Given the description of an element on the screen output the (x, y) to click on. 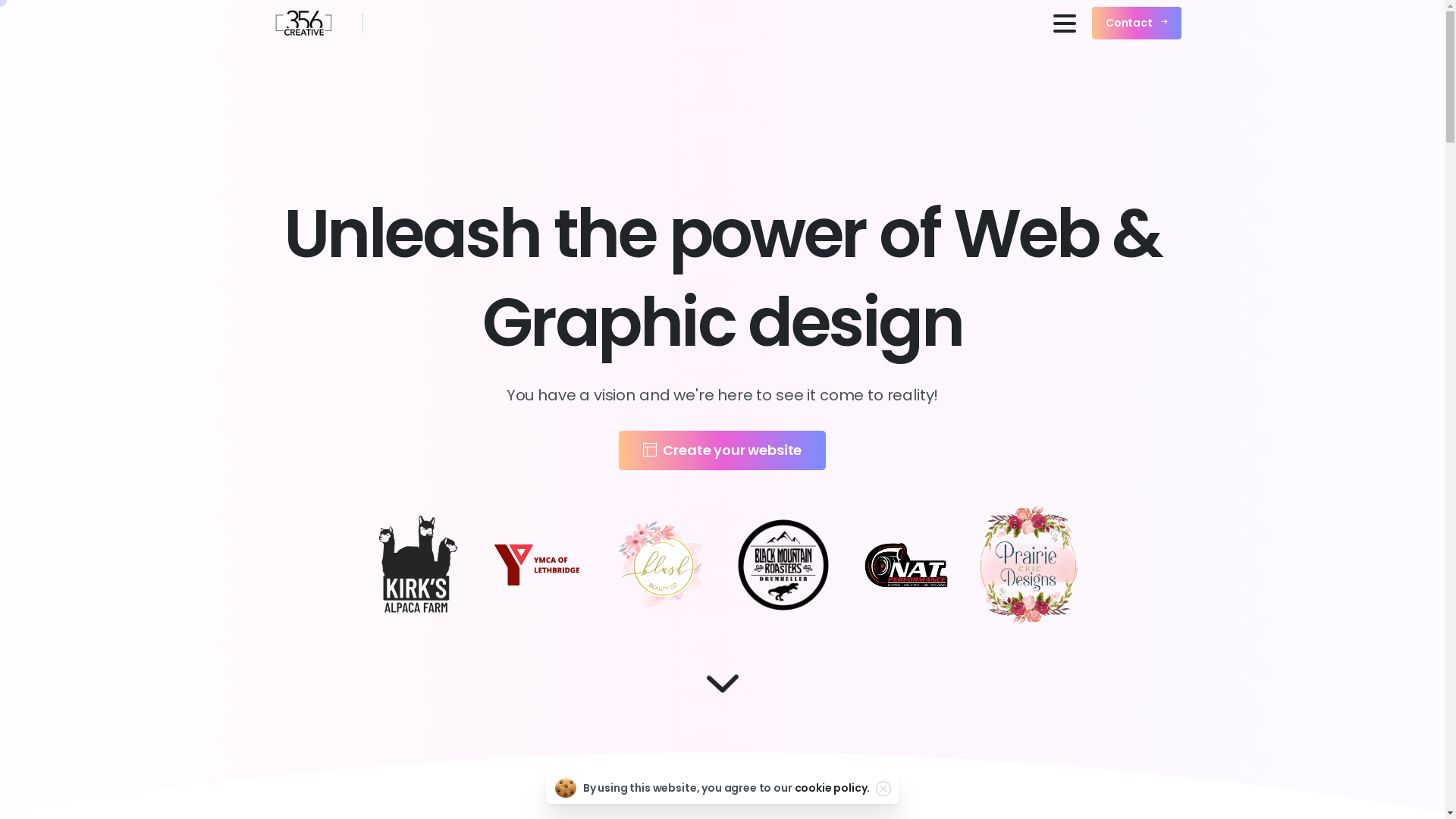
Create your website Element type: text (722, 450)
nat Element type: hover (906, 564)
bmr Element type: hover (783, 564)
ymca Element type: hover (538, 564)
Mockup Element type: text (919, 781)
cookie policy. Element type: text (831, 787)
Social Media Element type: text (806, 781)
Web Element type: text (604, 781)
blush Element type: hover (661, 565)
Contact Element type: text (1136, 23)
Graphic Element type: text (694, 781)
About Element type: text (519, 781)
